Given the description of an element on the screen output the (x, y) to click on. 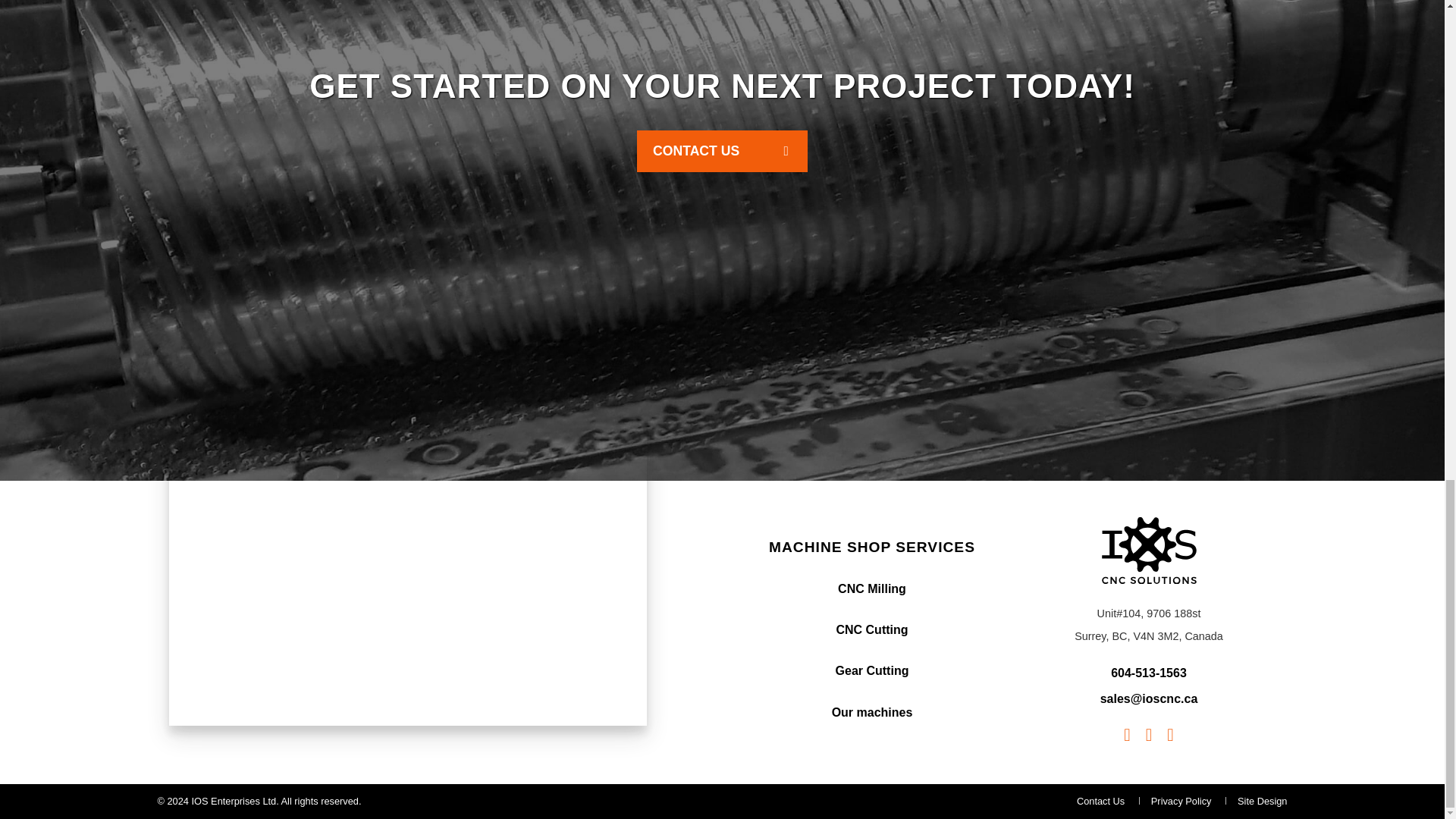
CNC Cutting (871, 629)
CNC Milling (871, 588)
Machine Shop Services (871, 546)
Gear Cutting (871, 670)
Contact Us (722, 150)
CNC Cutting (871, 629)
604-513-1563 (1148, 672)
Contact Us (1100, 800)
Gear Cutting (871, 670)
Our machines (871, 712)
Privacy Policy (1181, 800)
CNC Milling (871, 588)
Contact Us (1100, 800)
Site Design (1262, 800)
MACHINE SHOP SERVICES (871, 546)
